Given the description of an element on the screen output the (x, y) to click on. 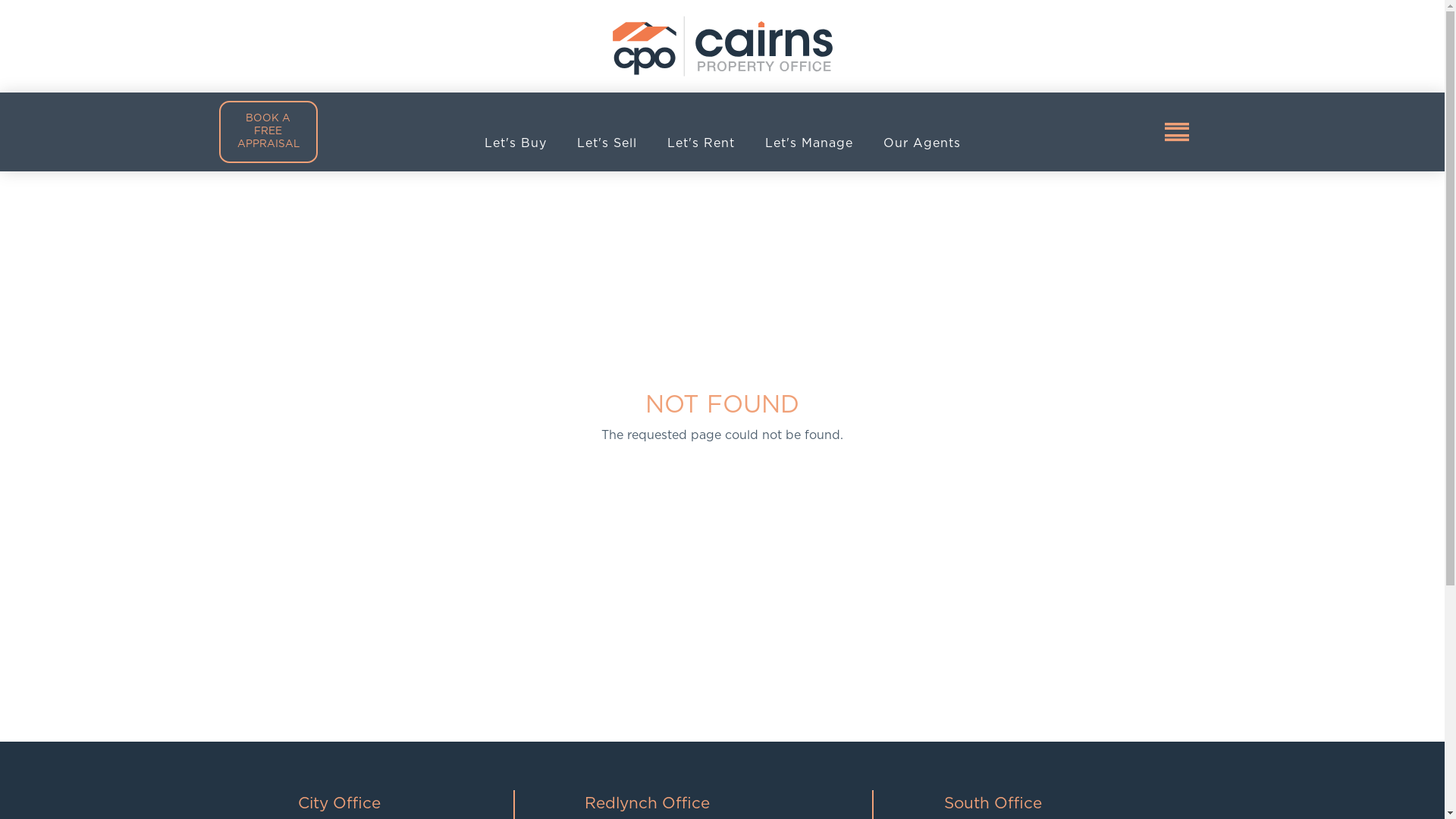
Let's Buy Element type: text (514, 143)
Let's Rent Element type: text (700, 143)
Let's Sell Element type: text (606, 143)
Let's Manage Element type: text (808, 143)
Our Agents Element type: text (921, 143)
BOOK A FREE
APPRAISAL Element type: text (267, 131)
